Given the description of an element on the screen output the (x, y) to click on. 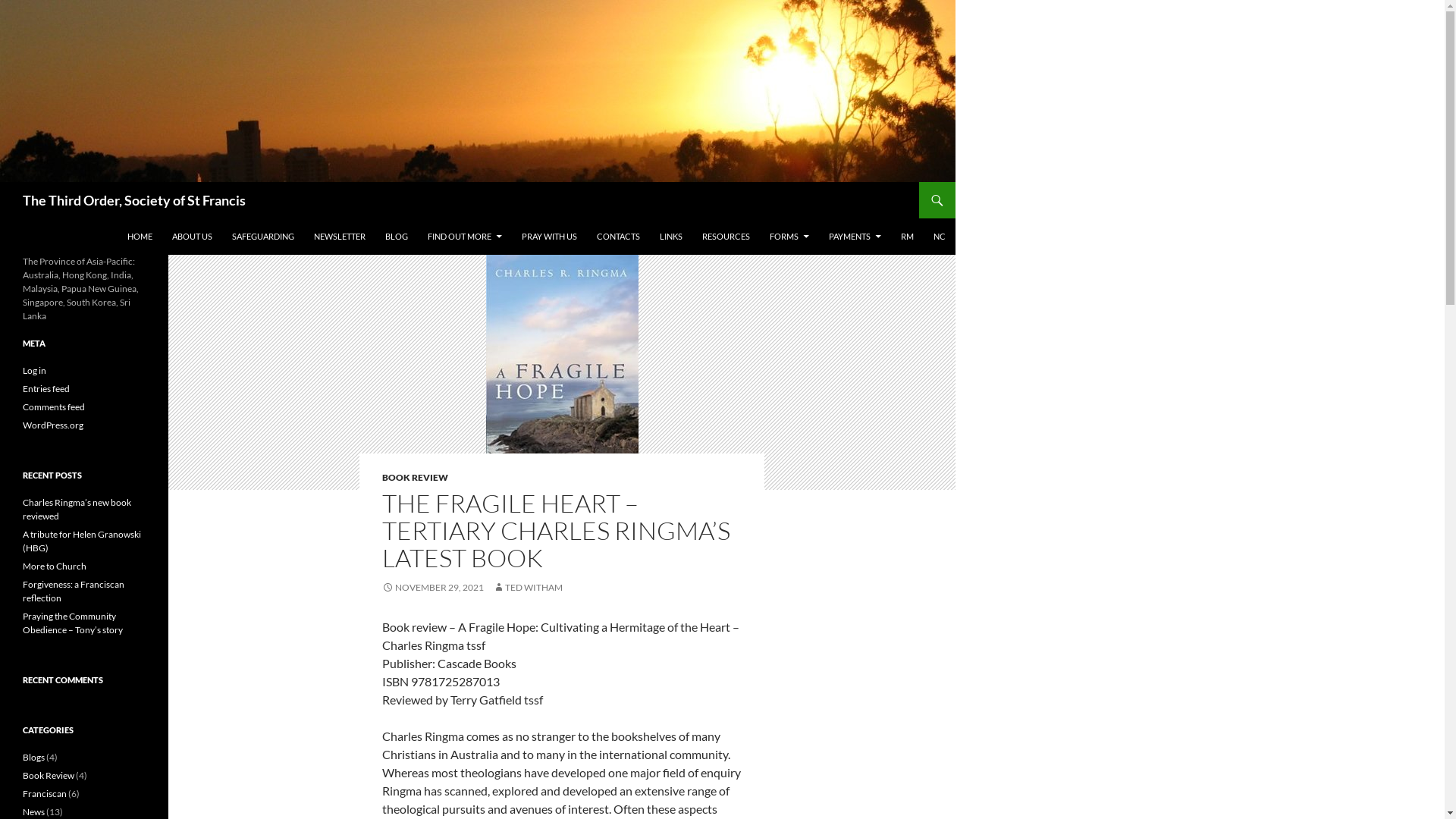
A tribute for Helen Granowski (HBG) Element type: text (81, 540)
PAYMENTS Element type: text (854, 236)
CONTACTS Element type: text (618, 236)
The Third Order, Society of St Francis Element type: text (133, 200)
WordPress.org Element type: text (52, 424)
Comments feed Element type: text (53, 406)
ABOUT US Element type: text (192, 236)
SAFEGUARDING Element type: text (262, 236)
Entries feed Element type: text (45, 388)
SKIP TO CONTENT Element type: text (126, 217)
BOOK REVIEW Element type: text (415, 477)
RESOURCES Element type: text (726, 236)
FORMS Element type: text (789, 236)
Franciscan Element type: text (44, 793)
Search Element type: text (3, 181)
NOVEMBER 29, 2021 Element type: text (432, 587)
Log in Element type: text (34, 370)
FIND OUT MORE Element type: text (464, 236)
Blogs Element type: text (33, 756)
PRAY WITH US Element type: text (549, 236)
LINKS Element type: text (670, 236)
Book Review Element type: text (48, 775)
NC Element type: text (939, 236)
More to Church Element type: text (54, 565)
RM Element type: text (906, 236)
HOME Element type: text (139, 236)
NEWSLETTER Element type: text (339, 236)
News Element type: text (33, 811)
Forgiveness: a Franciscan reflection Element type: text (73, 590)
TED WITHAM Element type: text (527, 587)
BLOG Element type: text (396, 236)
